Given the description of an element on the screen output the (x, y) to click on. 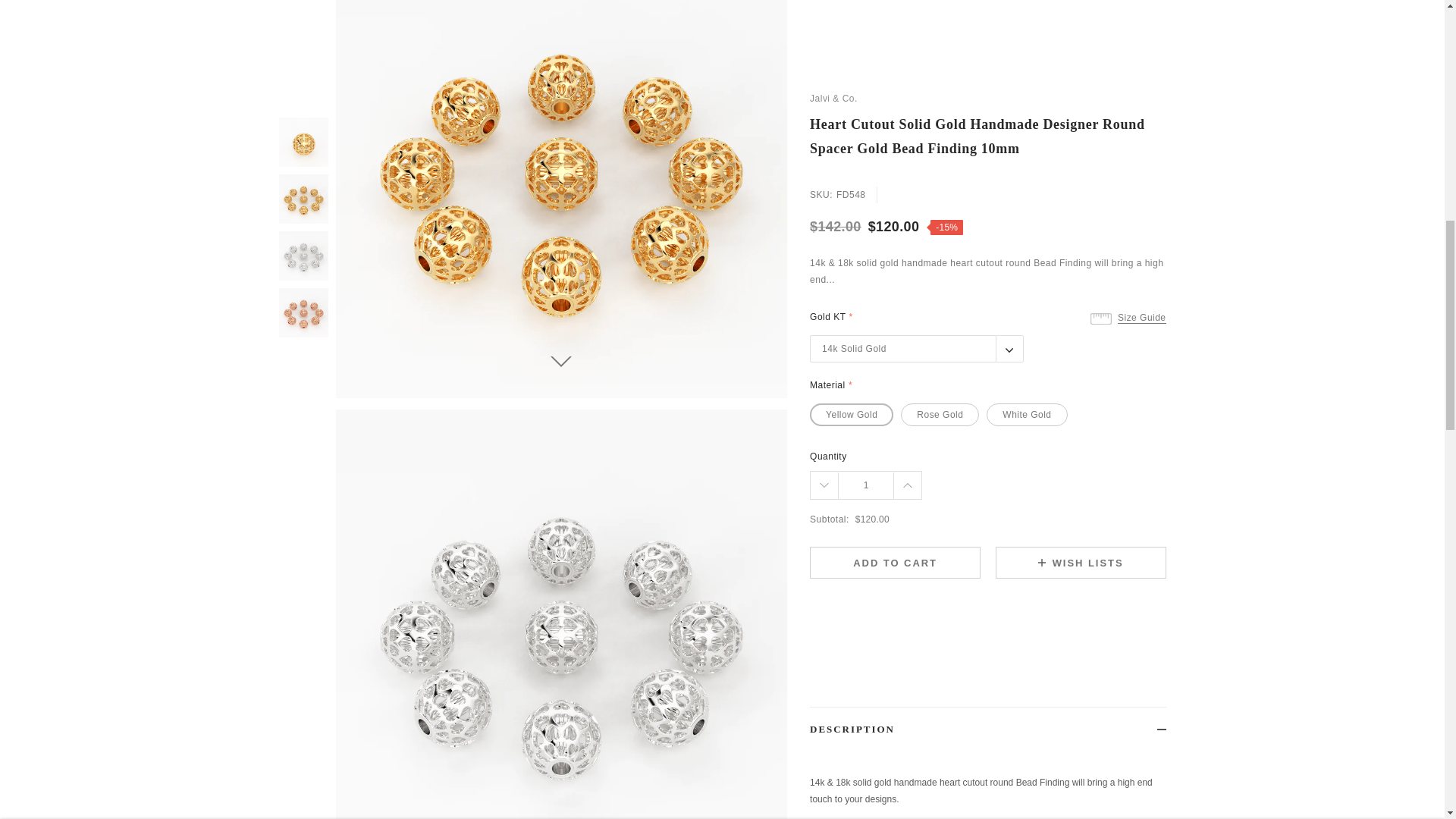
1 (889, 31)
Add to cart (1043, 32)
